Given the description of an element on the screen output the (x, y) to click on. 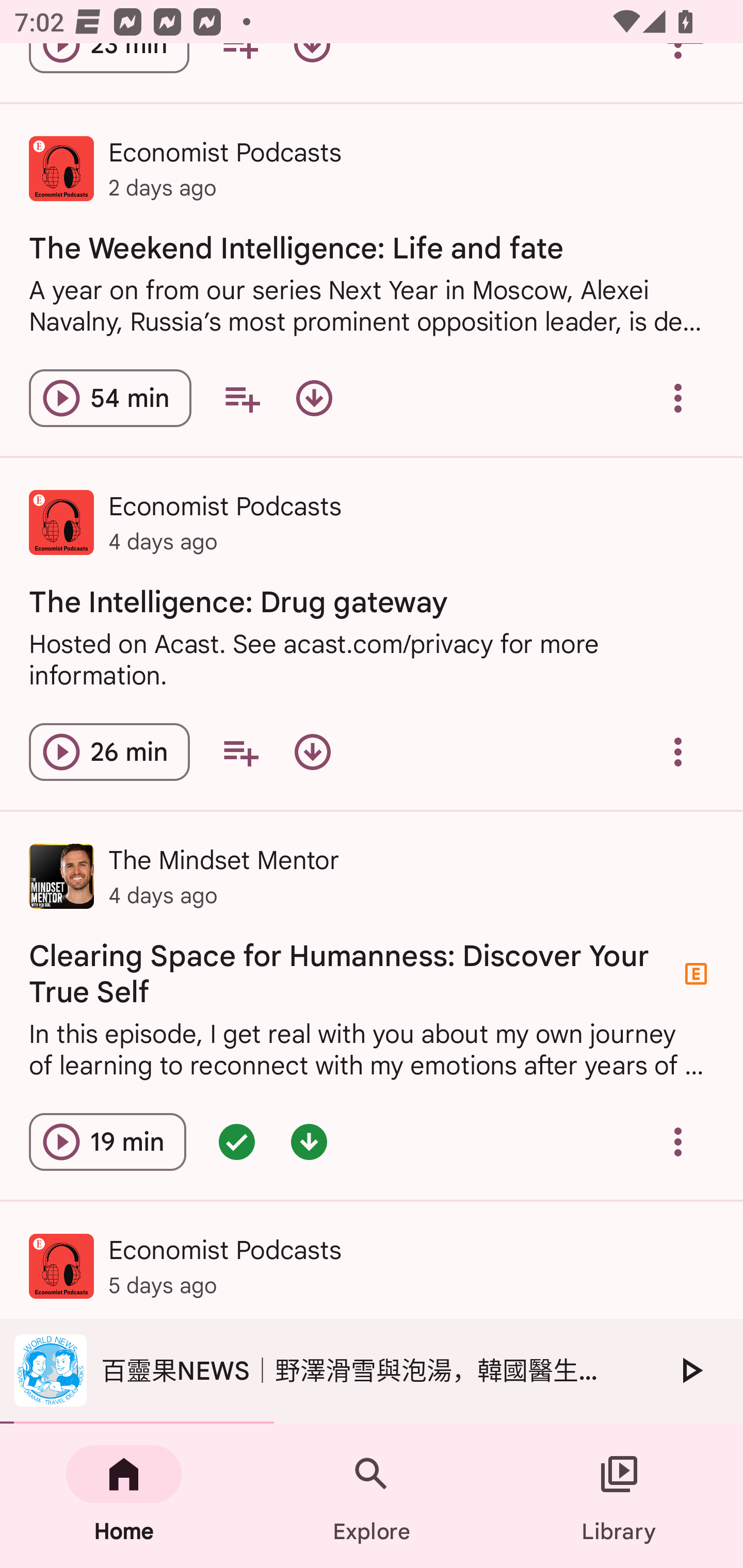
Add to your queue (241, 398)
Download episode (313, 398)
Overflow menu (677, 398)
Play episode The Intelligence: Drug gateway 26 min (109, 751)
Add to your queue (240, 751)
Download episode (312, 751)
Overflow menu (677, 751)
Episode queued - double tap for options (236, 1142)
Episode downloaded - double tap for options (308, 1142)
Overflow menu (677, 1142)
Play (690, 1370)
Explore (371, 1495)
Library (619, 1495)
